Given the description of an element on the screen output the (x, y) to click on. 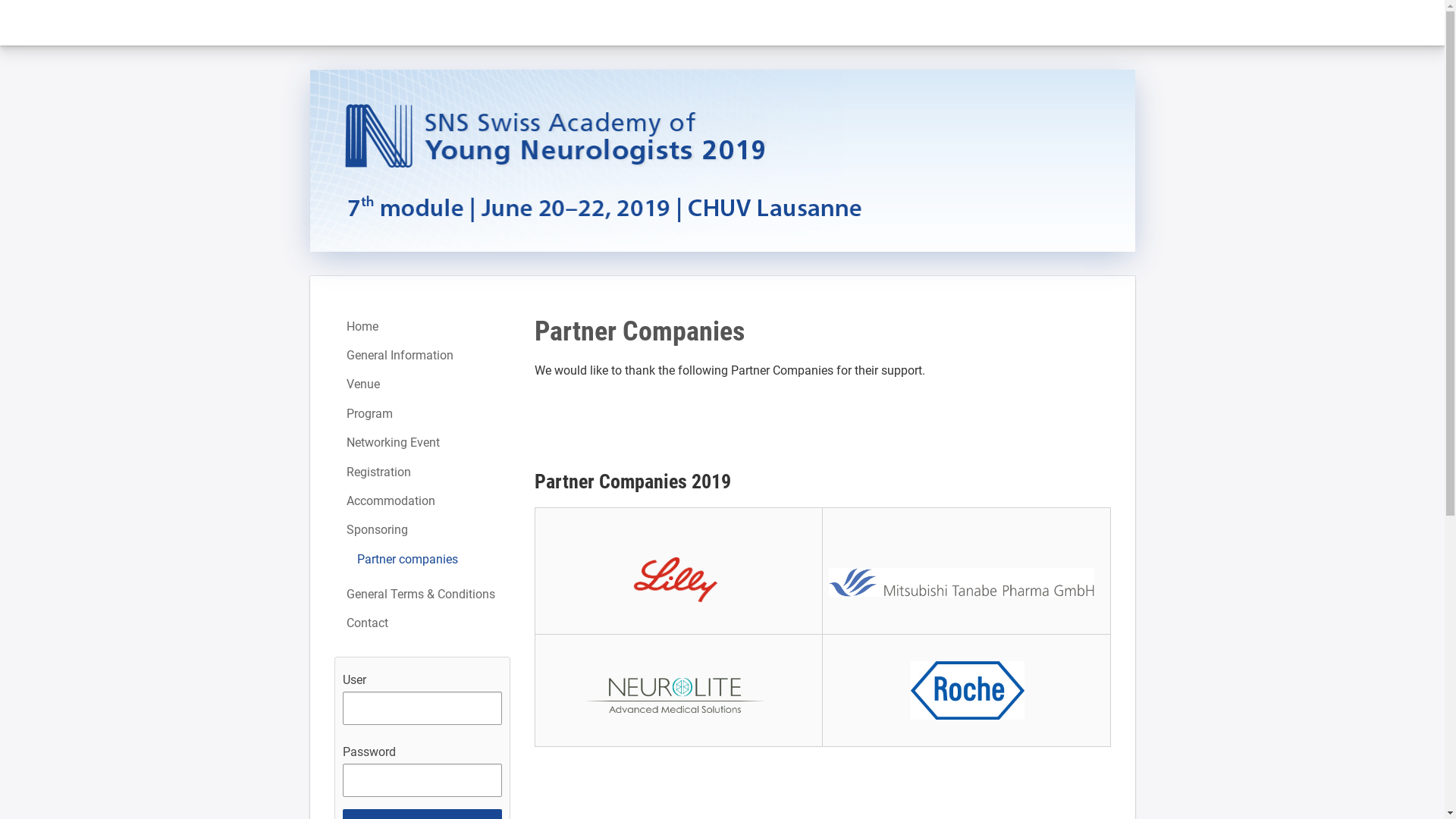
Venue Element type: text (421, 384)
Networking Event Element type: text (421, 442)
Contact Element type: text (421, 622)
Program Element type: text (421, 413)
Sponsoring Element type: text (421, 529)
General Information Element type: text (421, 355)
Home Element type: text (421, 326)
Partner companies Element type: text (421, 559)
General Terms & Conditions Element type: text (421, 594)
Accommodation Element type: text (421, 500)
Registration Element type: text (421, 472)
